Given the description of an element on the screen output the (x, y) to click on. 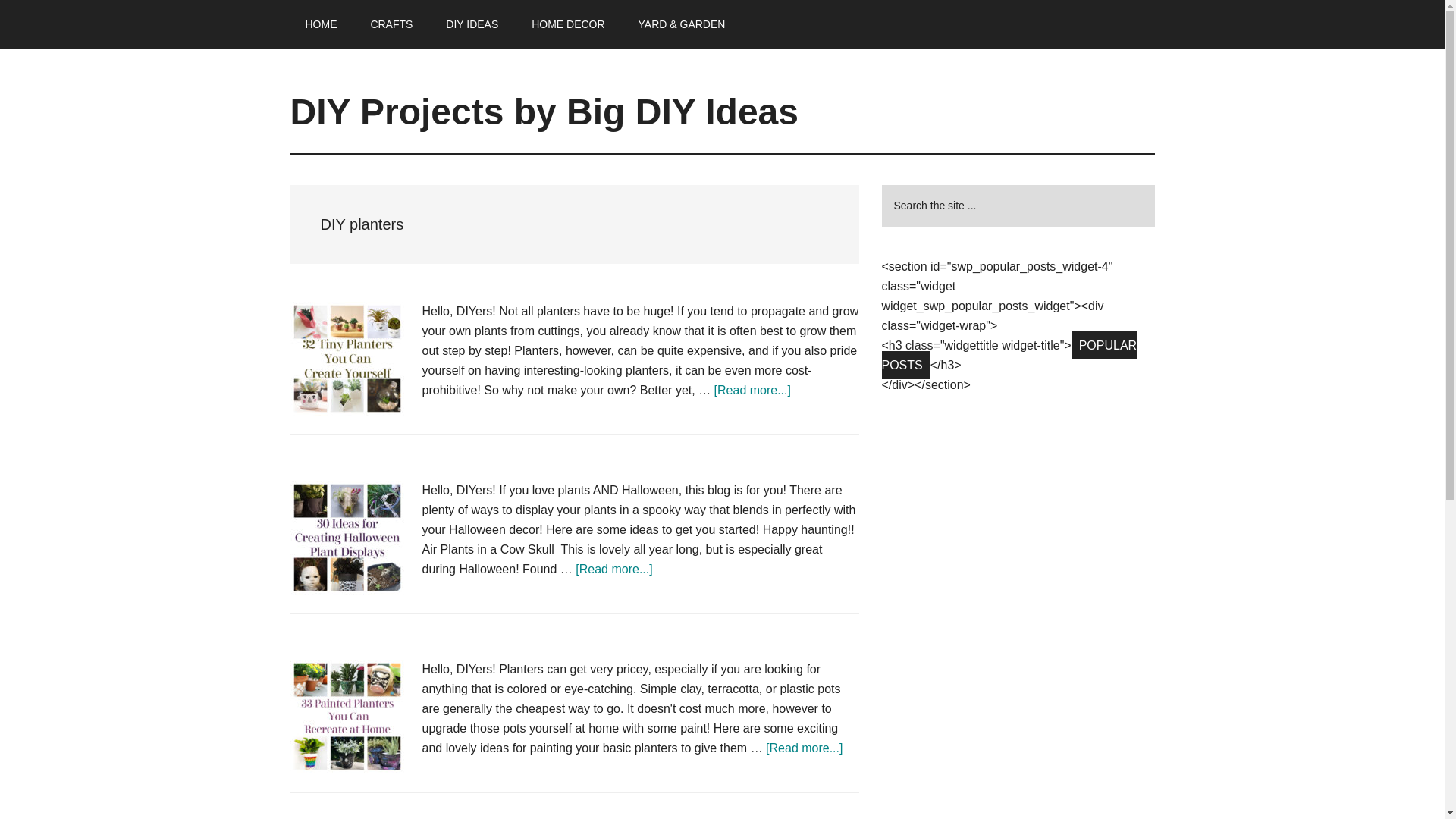
DIY IDEAS (471, 24)
CRAFTS (391, 24)
DIY Projects by Big DIY Ideas (543, 111)
HOME (320, 24)
HOME DECOR (568, 24)
